Given the description of an element on the screen output the (x, y) to click on. 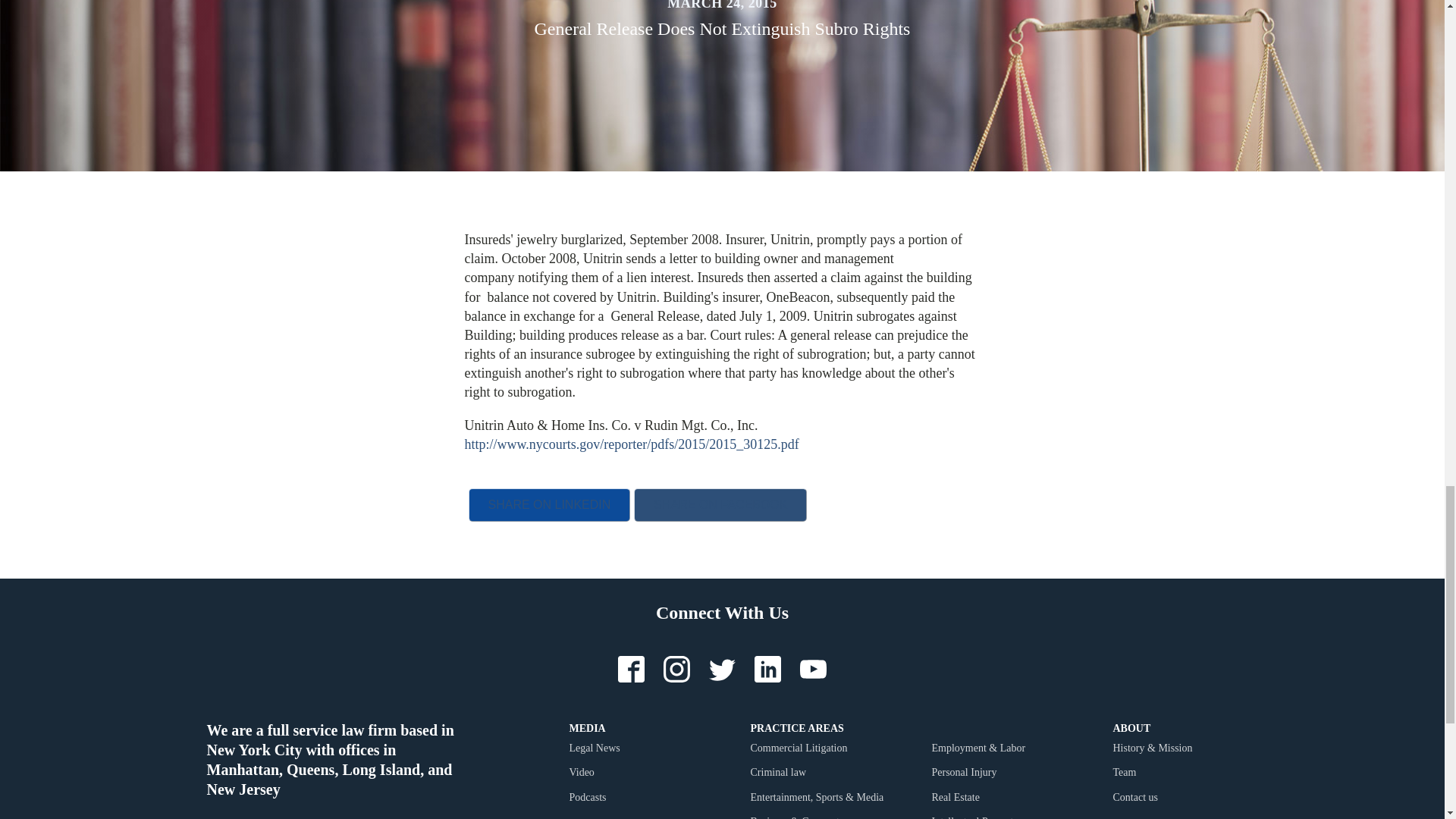
SHARE ON LINKEDIN (549, 504)
SHARE ON FACEBOOK (720, 504)
SHARE ON FACEBOOK (719, 504)
SHARE ON LINKEDIN (549, 504)
Share on Facebook (720, 504)
Share on LinkedIn (549, 504)
